Given the description of an element on the screen output the (x, y) to click on. 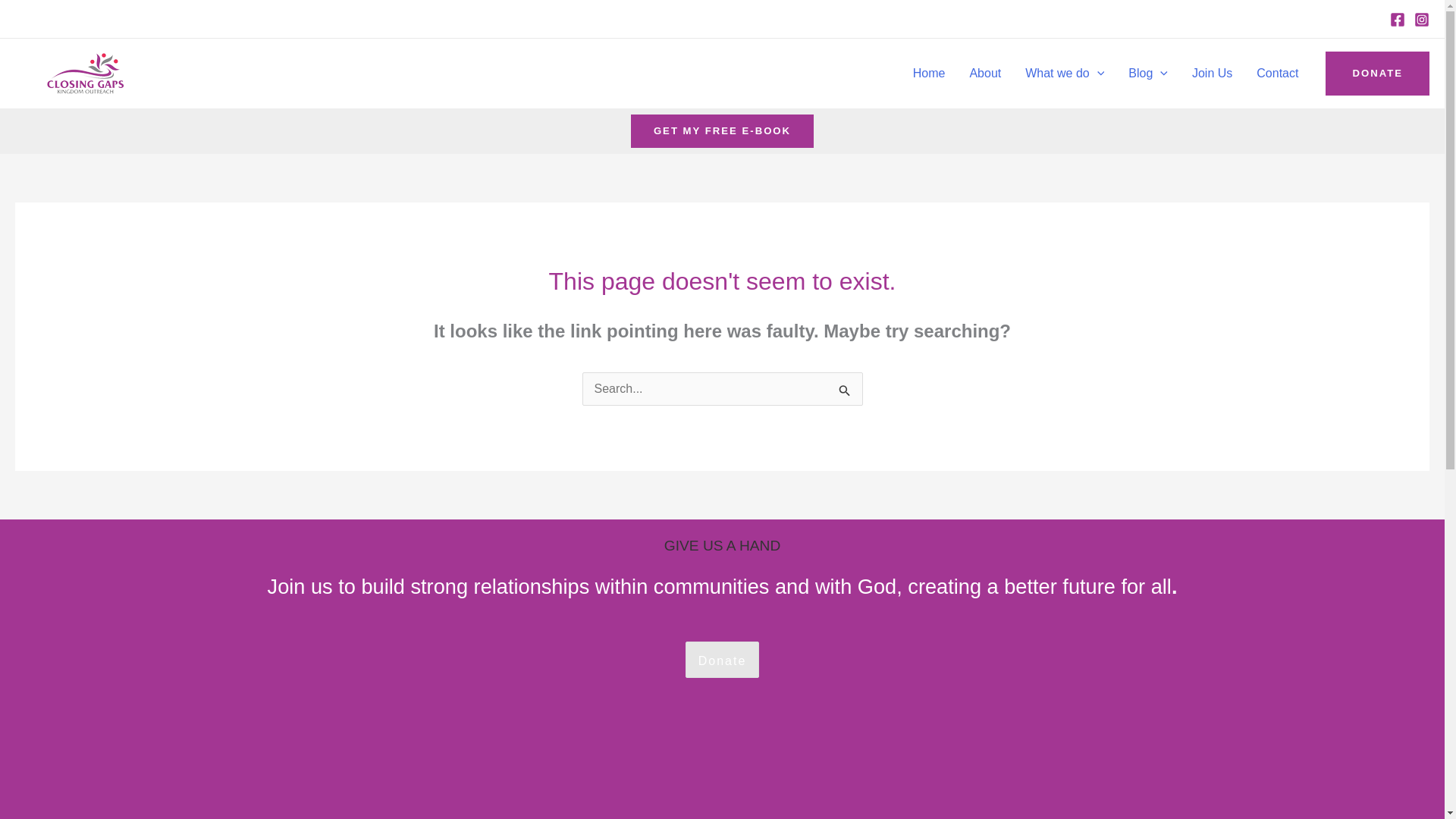
DONATE (1376, 73)
Home (929, 72)
Contact (1277, 72)
What we do (1064, 72)
Blog (1147, 72)
GET MY FREE E-BOOK (721, 130)
Search (844, 391)
Join Us (1211, 72)
Search (844, 391)
About (984, 72)
